Given the description of an element on the screen output the (x, y) to click on. 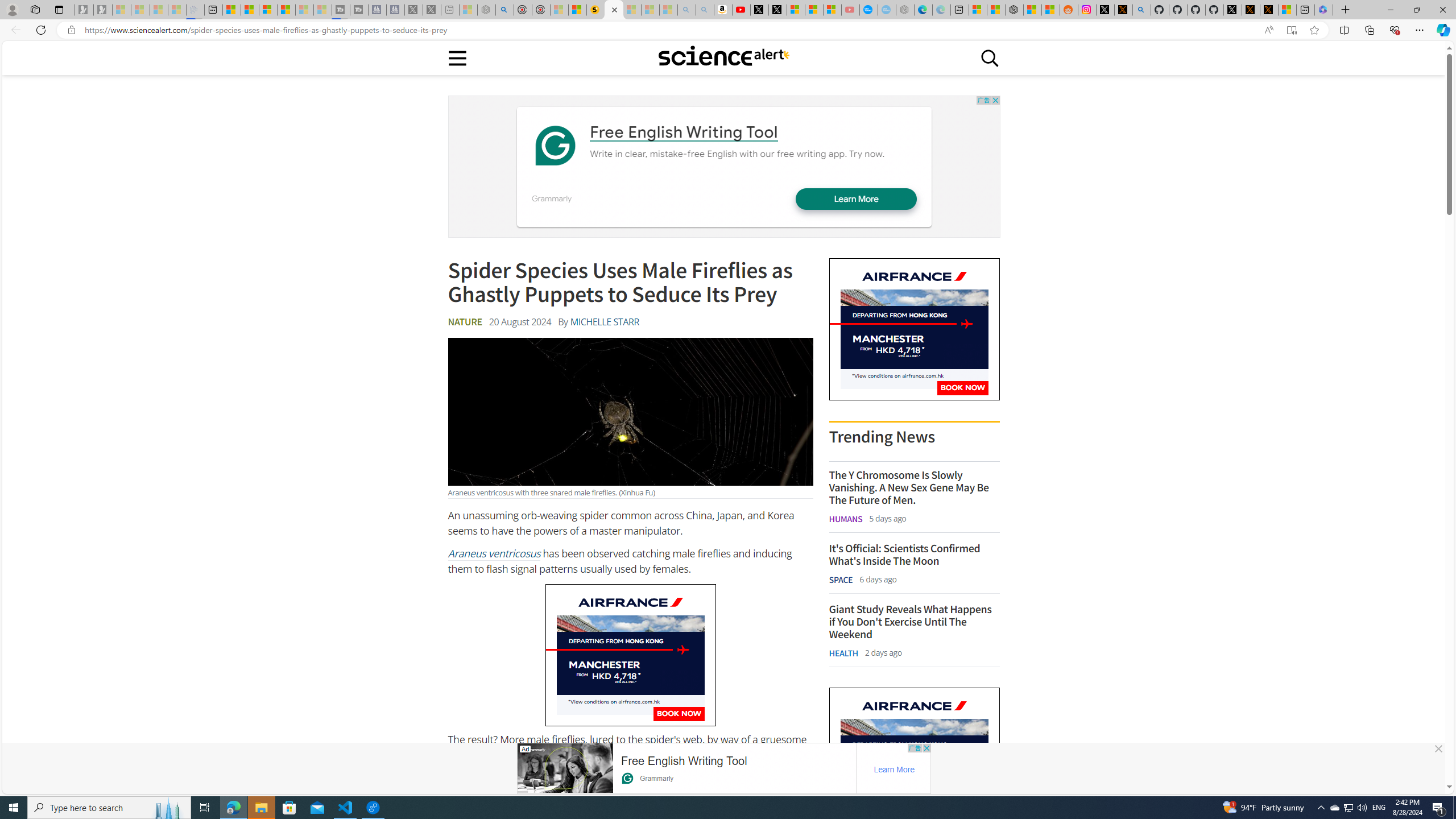
Class: sciencealert-search-desktop-svg  (989, 57)
Enter Immersive Reader (F9) (1291, 29)
SPACE (840, 579)
